Given the description of an element on the screen output the (x, y) to click on. 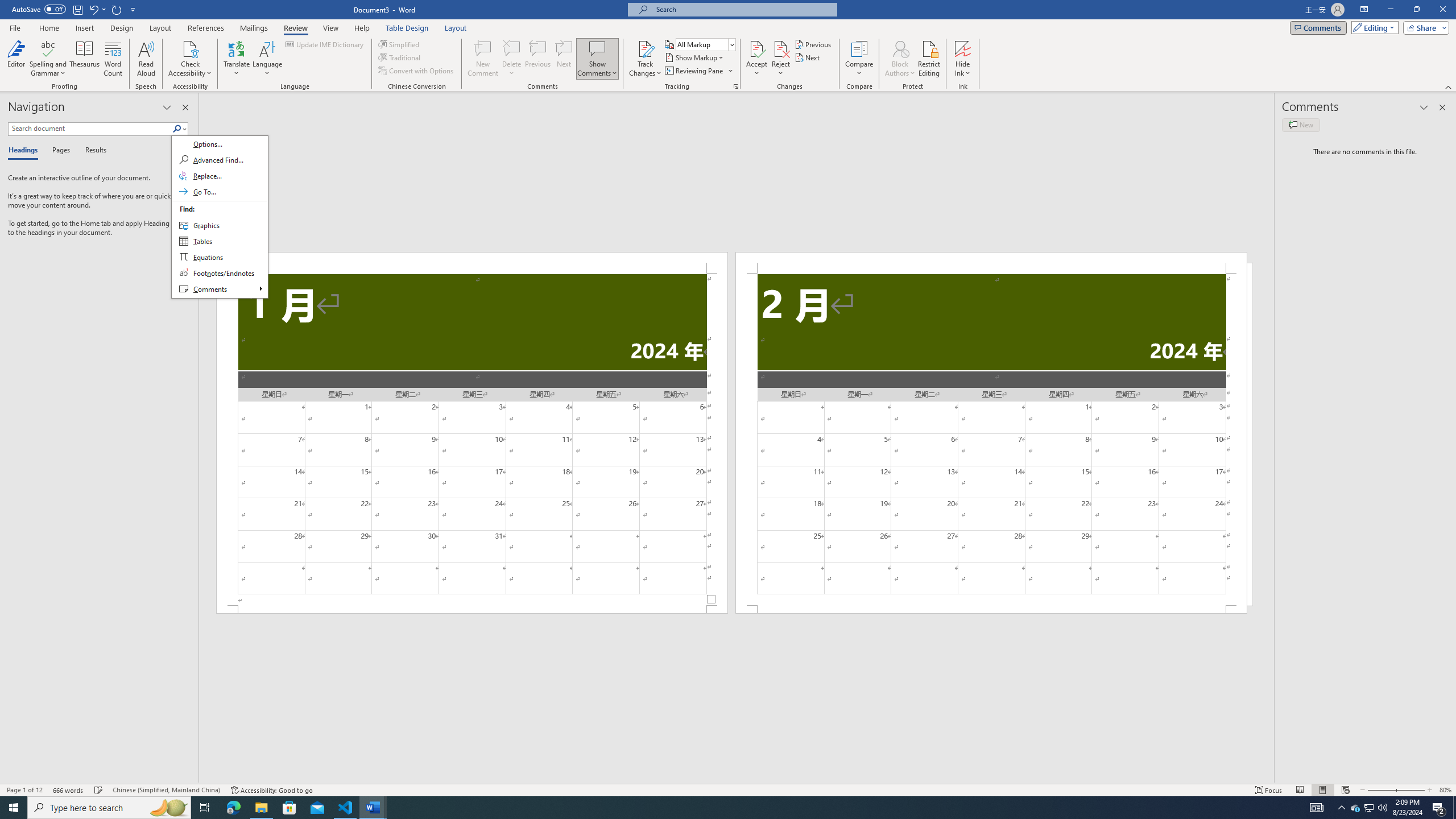
Track Changes (644, 58)
Footer -Section 2- (991, 609)
